Given the description of an element on the screen output the (x, y) to click on. 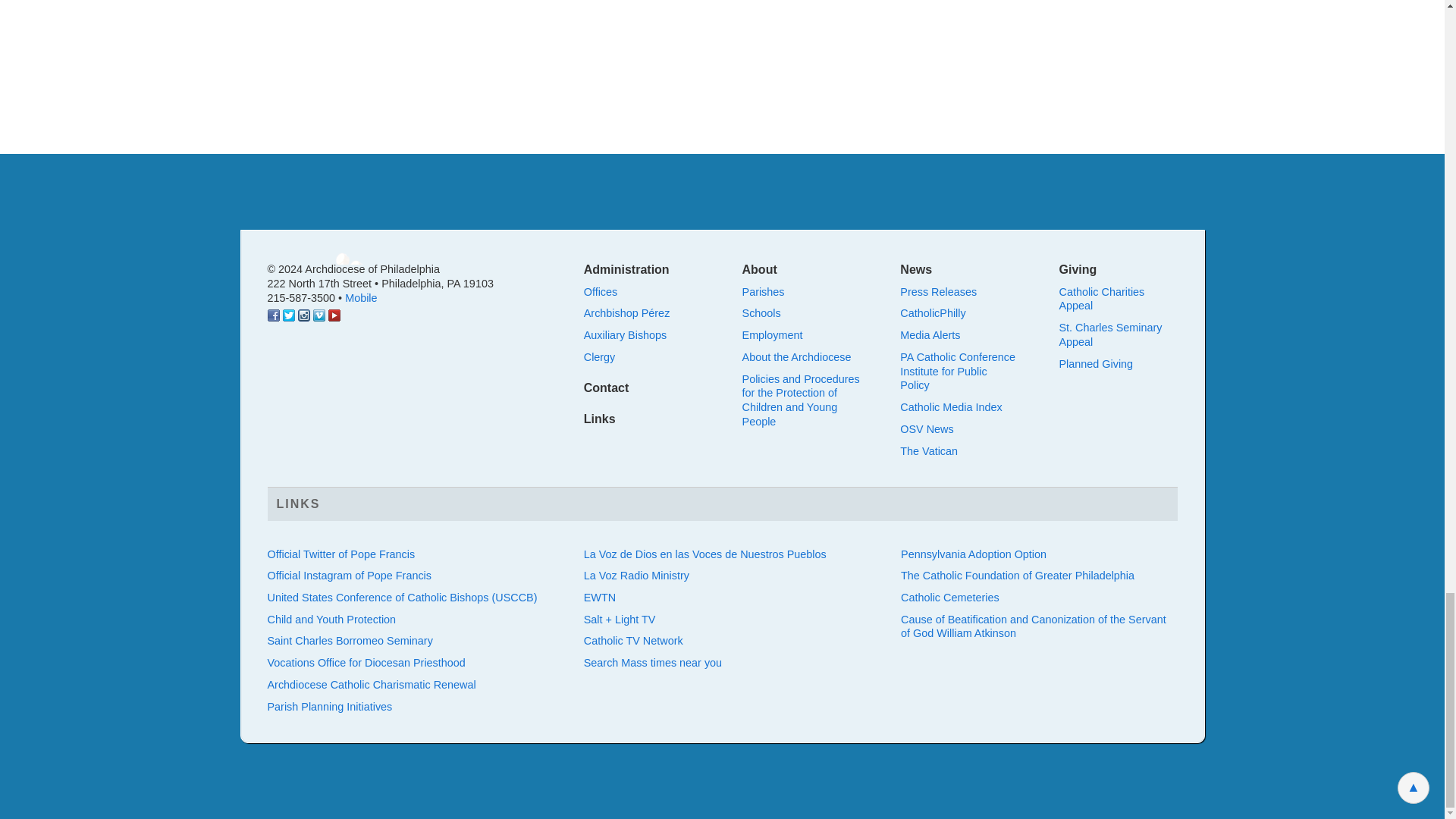
See us on Instagram (302, 317)
Watch on YouTube (333, 317)
Join us on Facebook (272, 317)
Follow us on Twitter (288, 317)
Watch on Vimeo (318, 317)
